Given the description of an element on the screen output the (x, y) to click on. 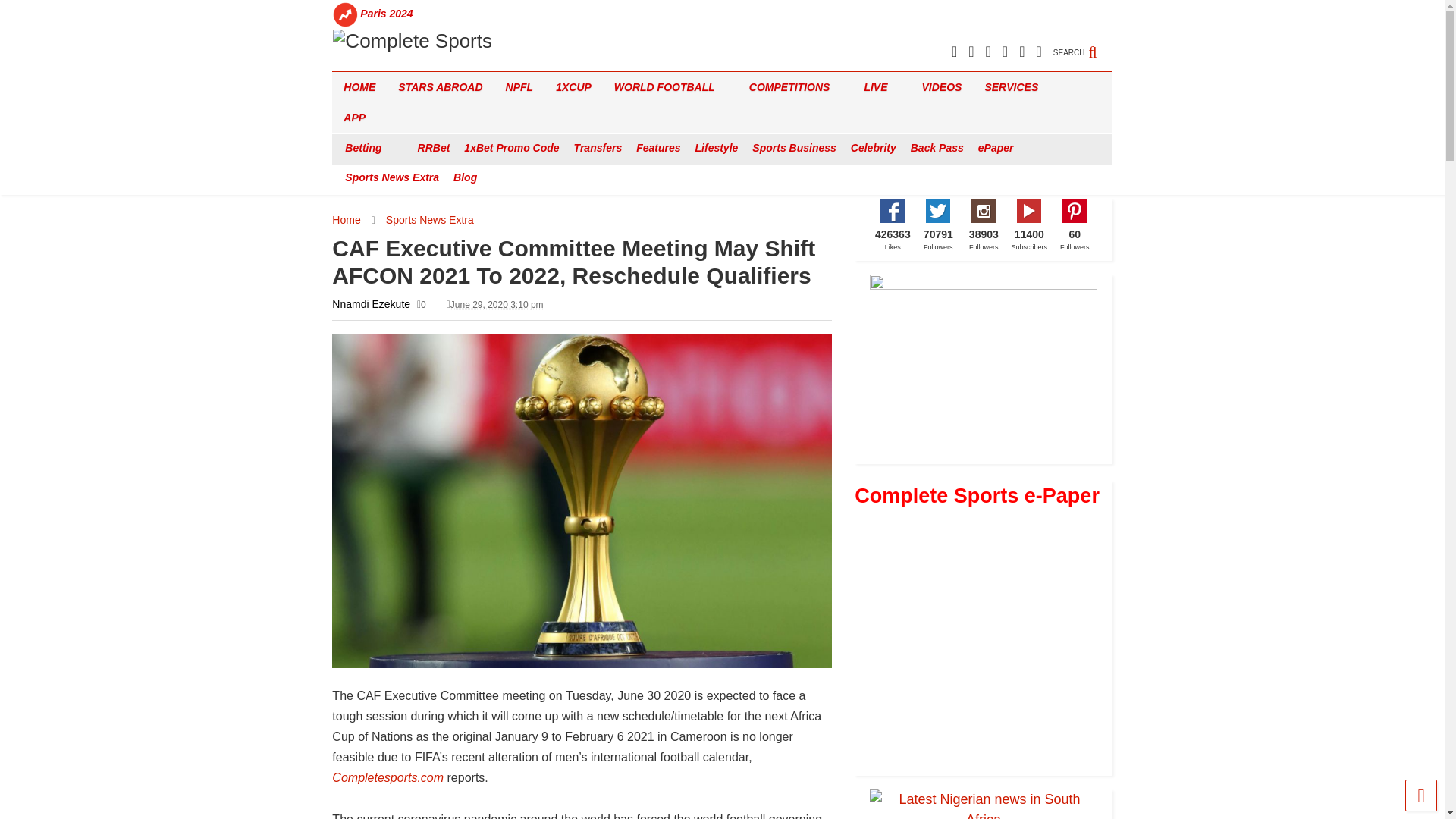
June 29, 2020 3:33 pm (496, 304)
NPFL (519, 87)
Paris 2024 (386, 13)
1XCUP (573, 87)
HOME (359, 87)
Complete Sports (411, 40)
SERVICES (1016, 87)
VIDEOS (942, 87)
Nnamdi Ezekute (370, 304)
